Given the description of an element on the screen output the (x, y) to click on. 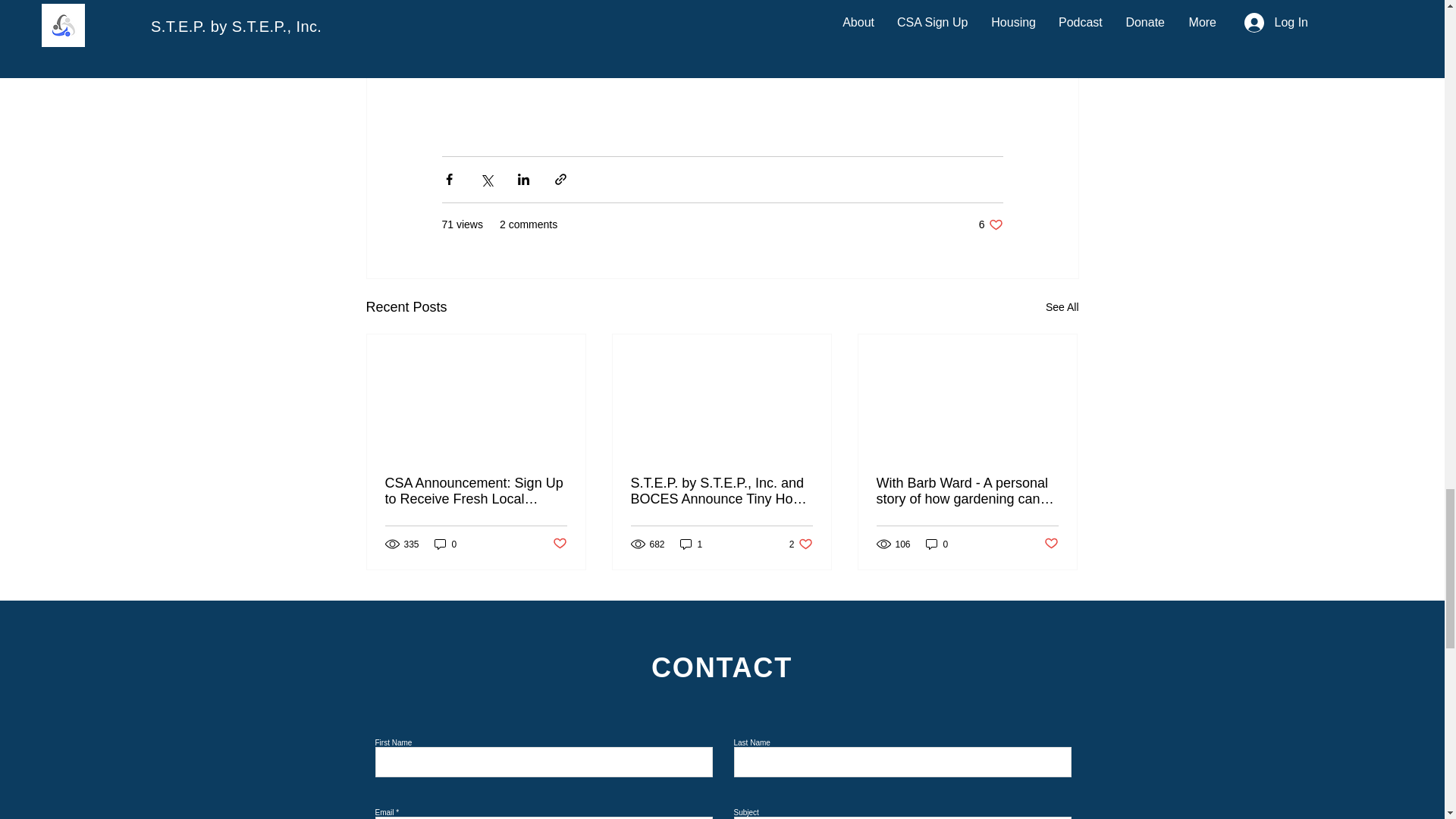
See All (1061, 307)
0 (445, 544)
0 (990, 224)
1 (937, 544)
Post not marked as liked (691, 544)
